Given the description of an element on the screen output the (x, y) to click on. 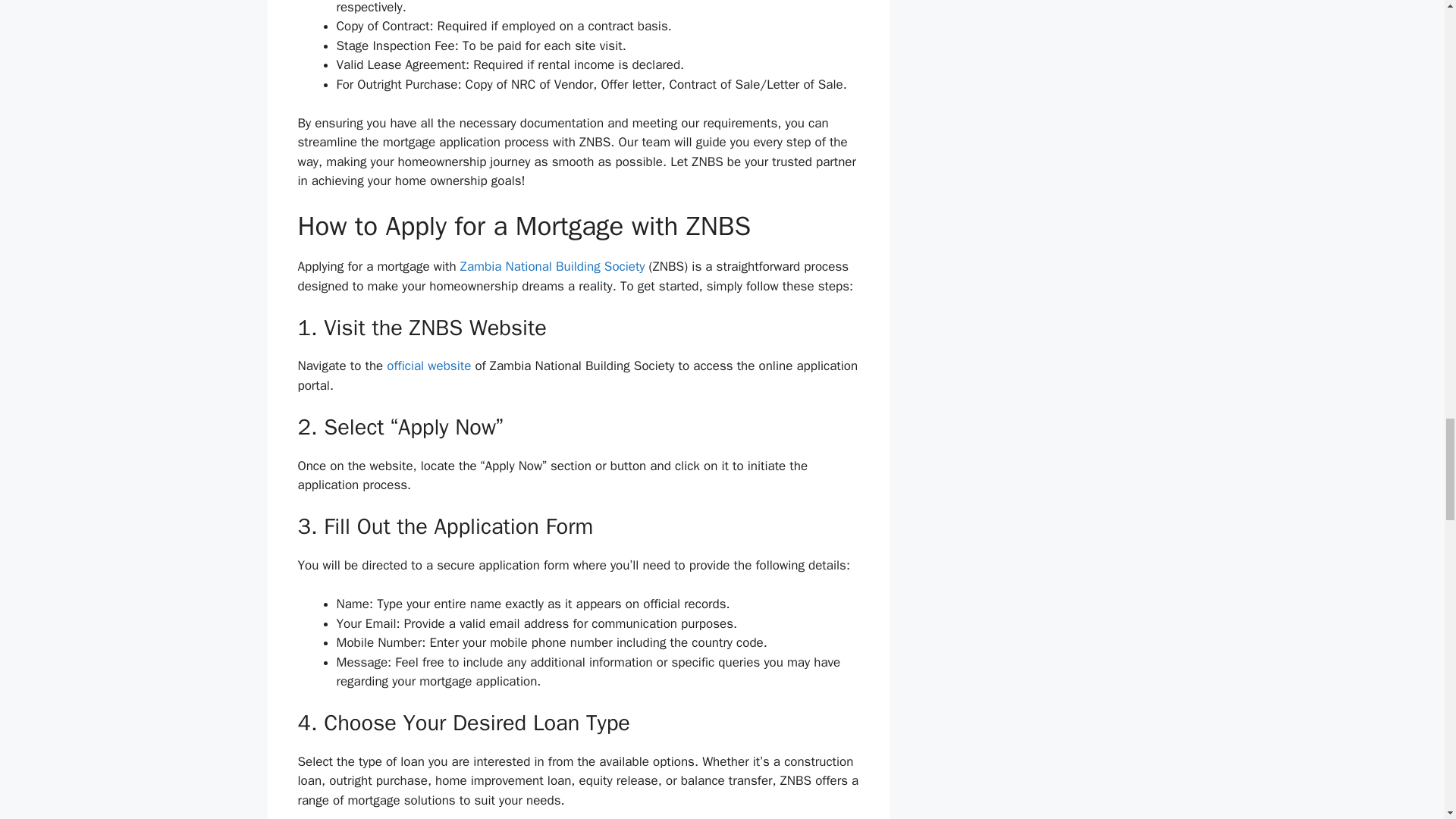
official website (428, 365)
Zambia National Building Society (552, 266)
